Given the description of an element on the screen output the (x, y) to click on. 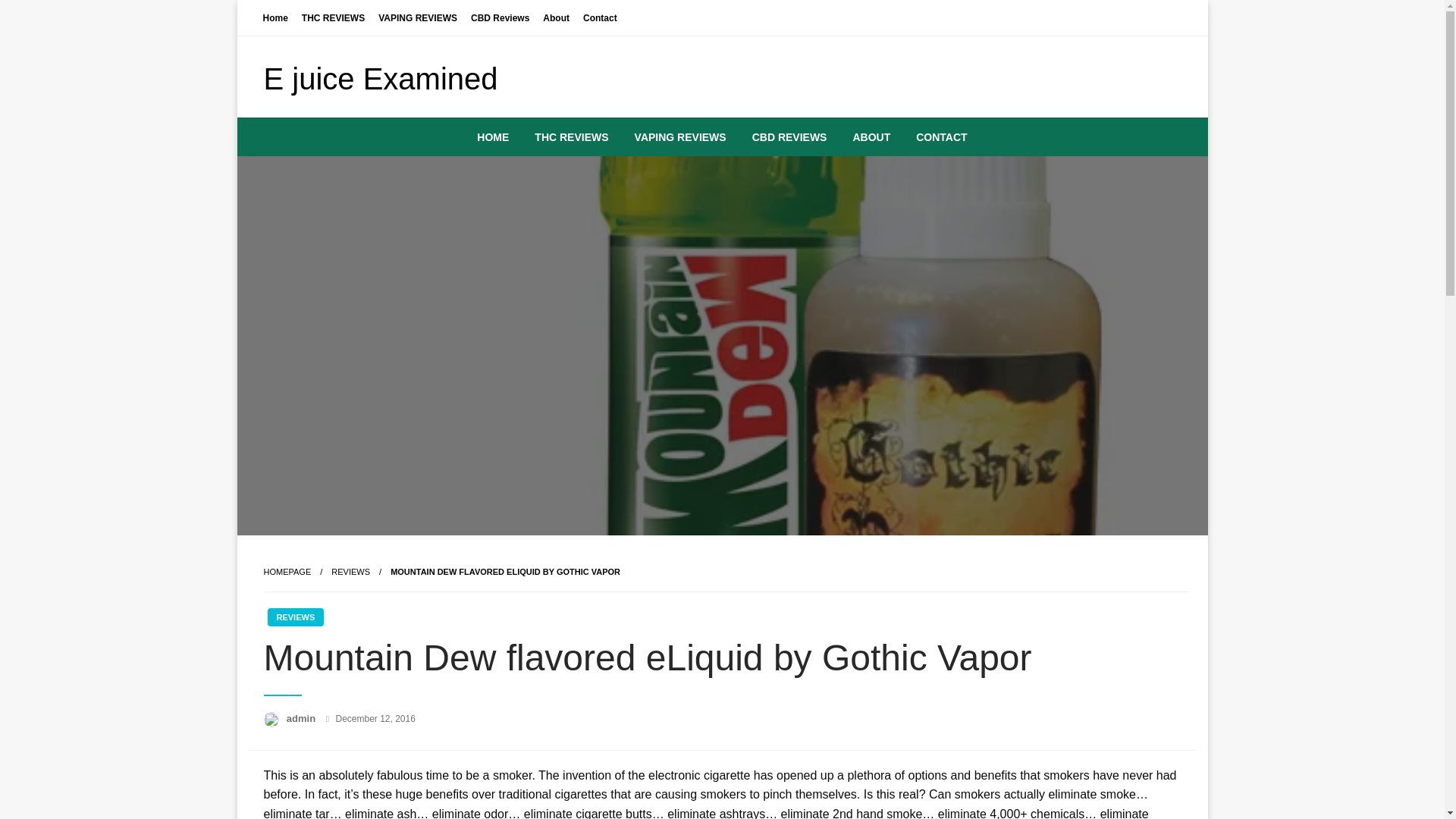
admin (302, 717)
HOMEPAGE (287, 571)
CBD Reviews (499, 17)
REVIEWS (294, 617)
THC REVIEWS (333, 17)
Contact (600, 17)
ABOUT (871, 136)
December 12, 2016 (374, 718)
REVIEWS (350, 571)
CONTACT (940, 136)
